Given the description of an element on the screen output the (x, y) to click on. 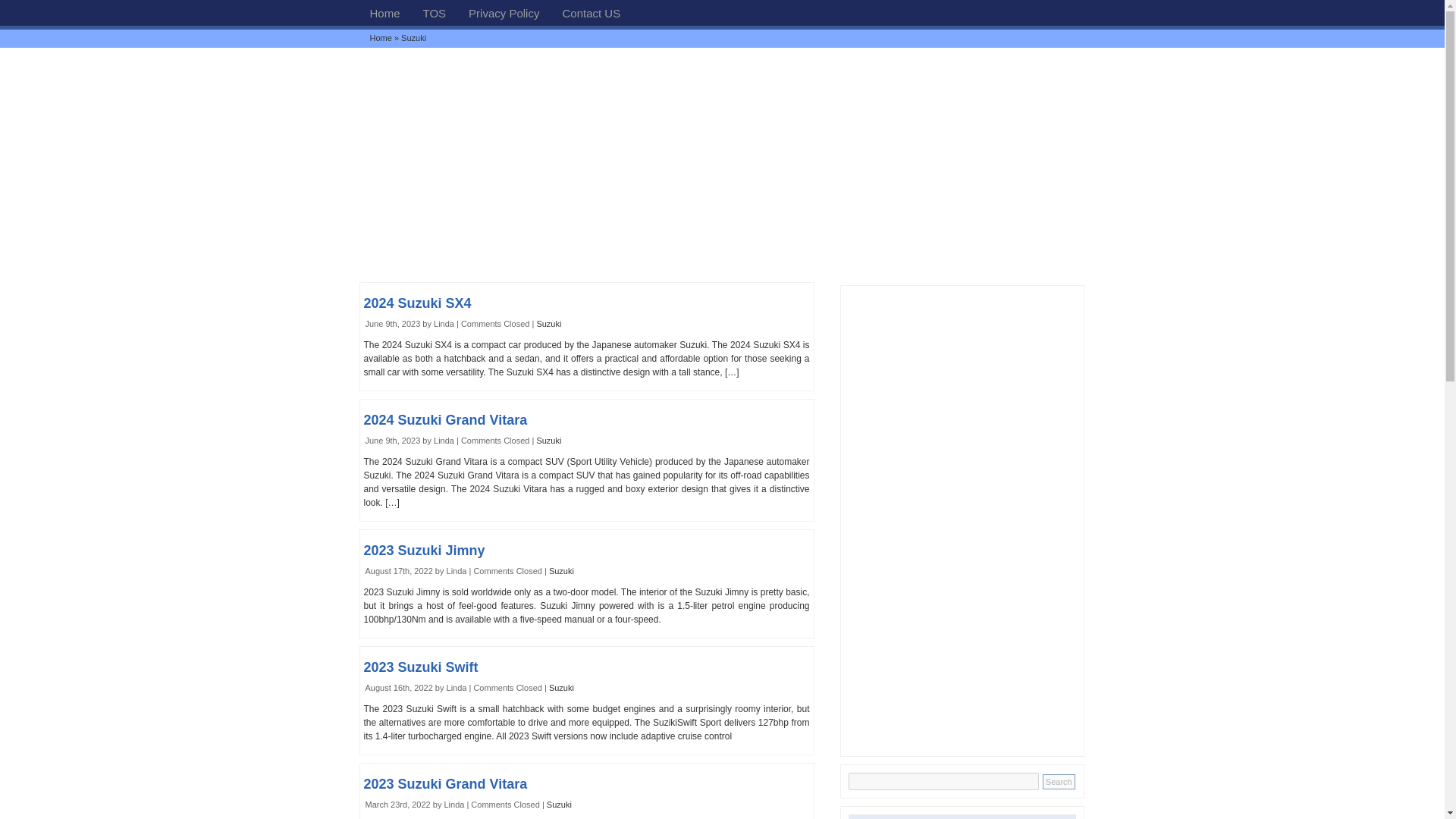
GTOPCARS.COM (384, 12)
Suzuki (560, 570)
Search (1058, 781)
2024 Suzuki SX4 (417, 303)
Home (384, 12)
2023 Suzuki Grand Vitara (445, 783)
2024 Suzuki Grand Vitara (445, 419)
2023 Suzuki Swift (421, 667)
2023 Suzuki Grand Vitara (445, 783)
2023 Suzuki Jimny (424, 549)
